Given the description of an element on the screen output the (x, y) to click on. 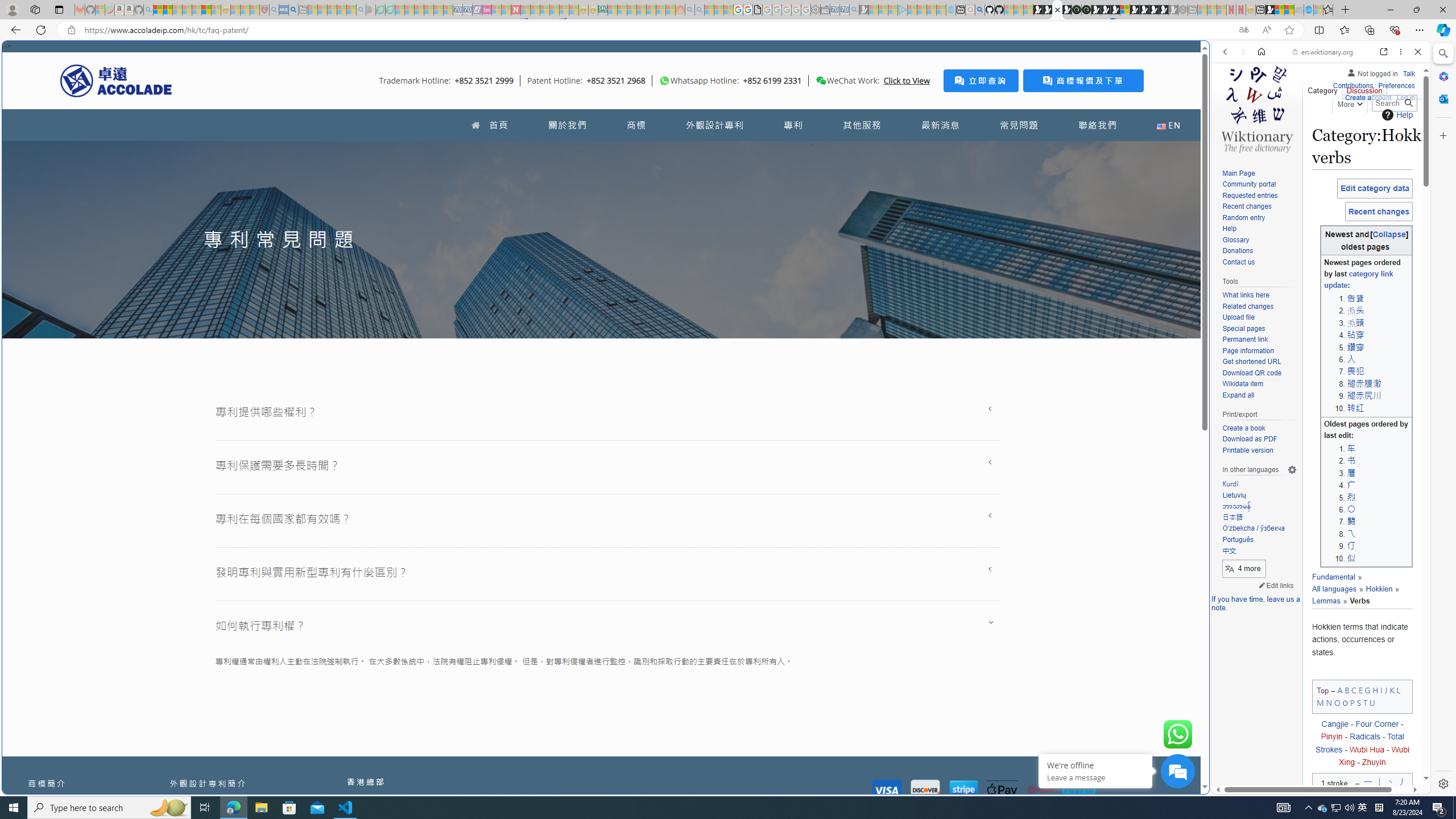
Contact us (1238, 261)
L (1398, 689)
P (1351, 701)
Donations (1259, 251)
en.wiktionary.org (1323, 51)
Community portal (1259, 184)
Log in (1405, 96)
